Given the description of an element on the screen output the (x, y) to click on. 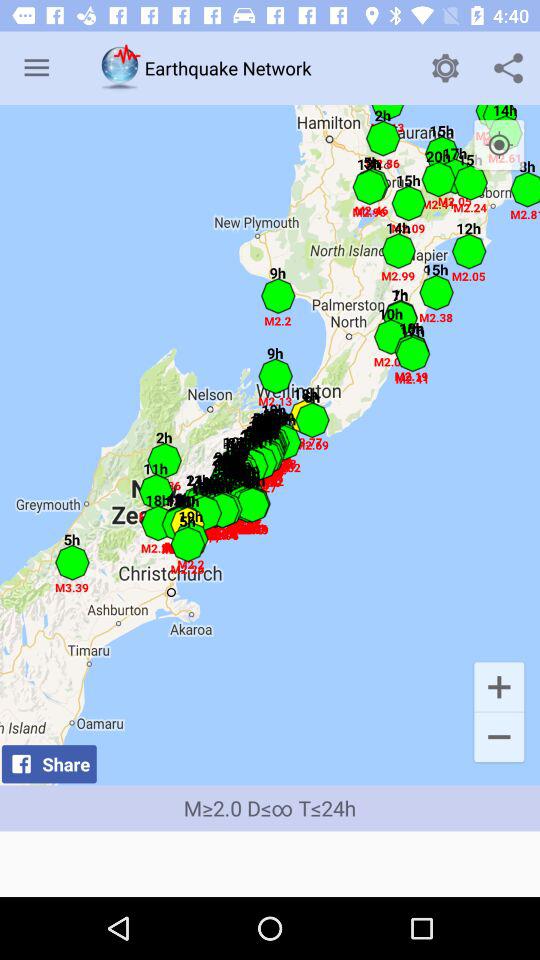
click the item to the right of the earthquake network (444, 67)
